Given the description of an element on the screen output the (x, y) to click on. 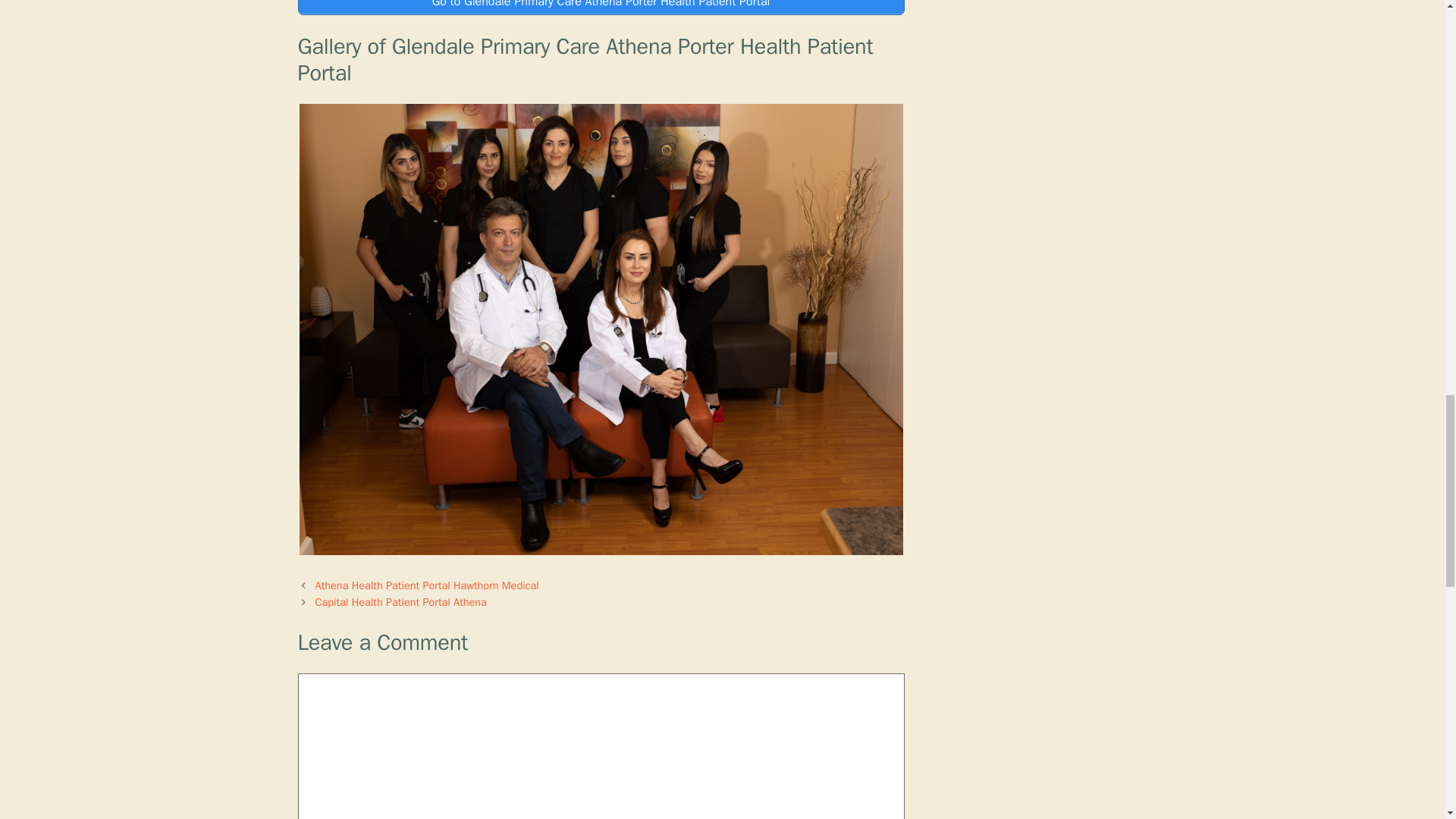
Athena Health Patient Portal Hawthorn Medical (426, 585)
Capital Health Patient Portal Athena (400, 602)
